Given the description of an element on the screen output the (x, y) to click on. 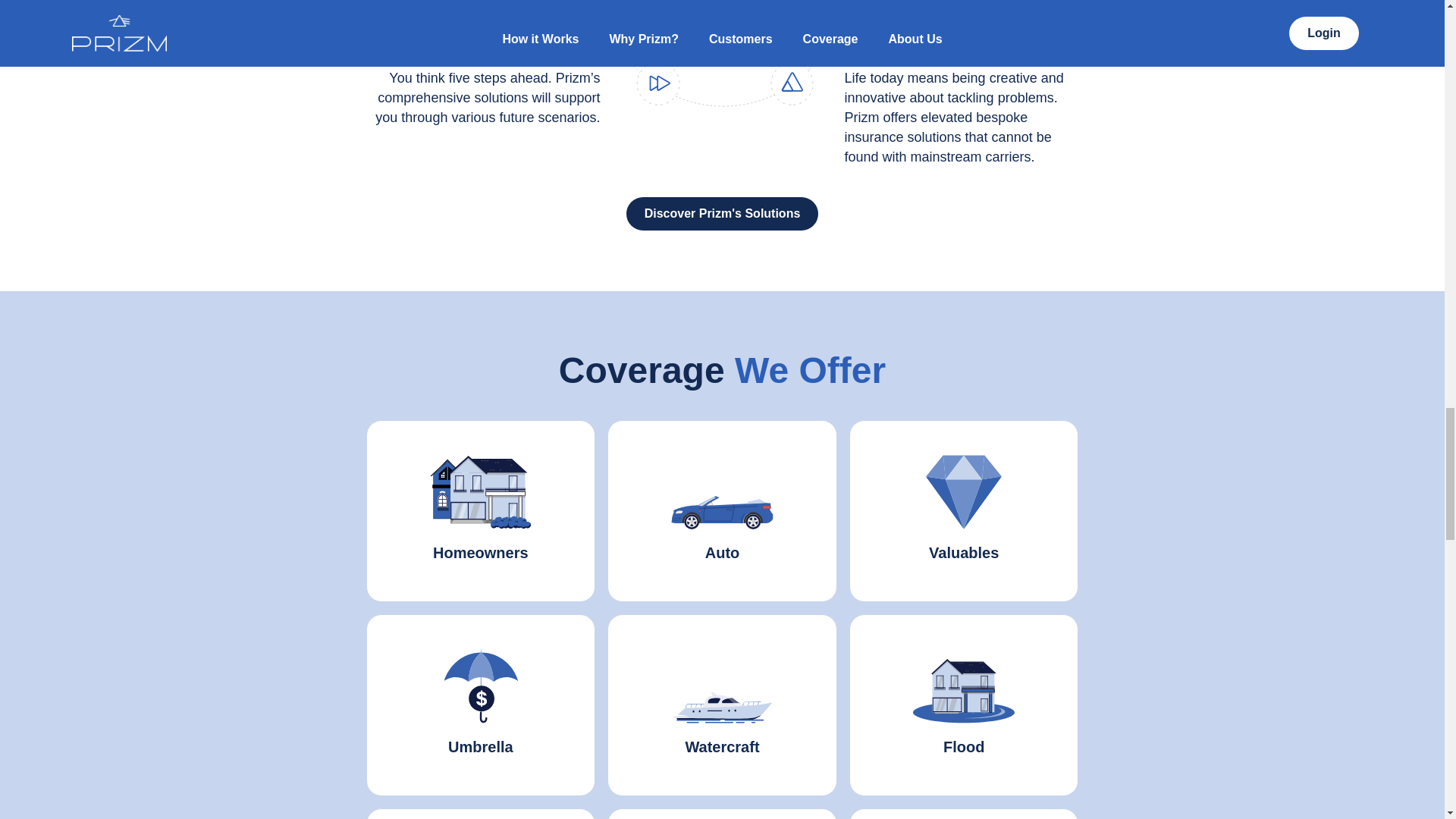
Discover Prizm's Solutions (722, 213)
Learn More (480, 770)
Learn More (721, 770)
Learn More (480, 571)
Learn More (721, 571)
Learn More (963, 575)
Learn More (963, 765)
